Given the description of an element on the screen output the (x, y) to click on. 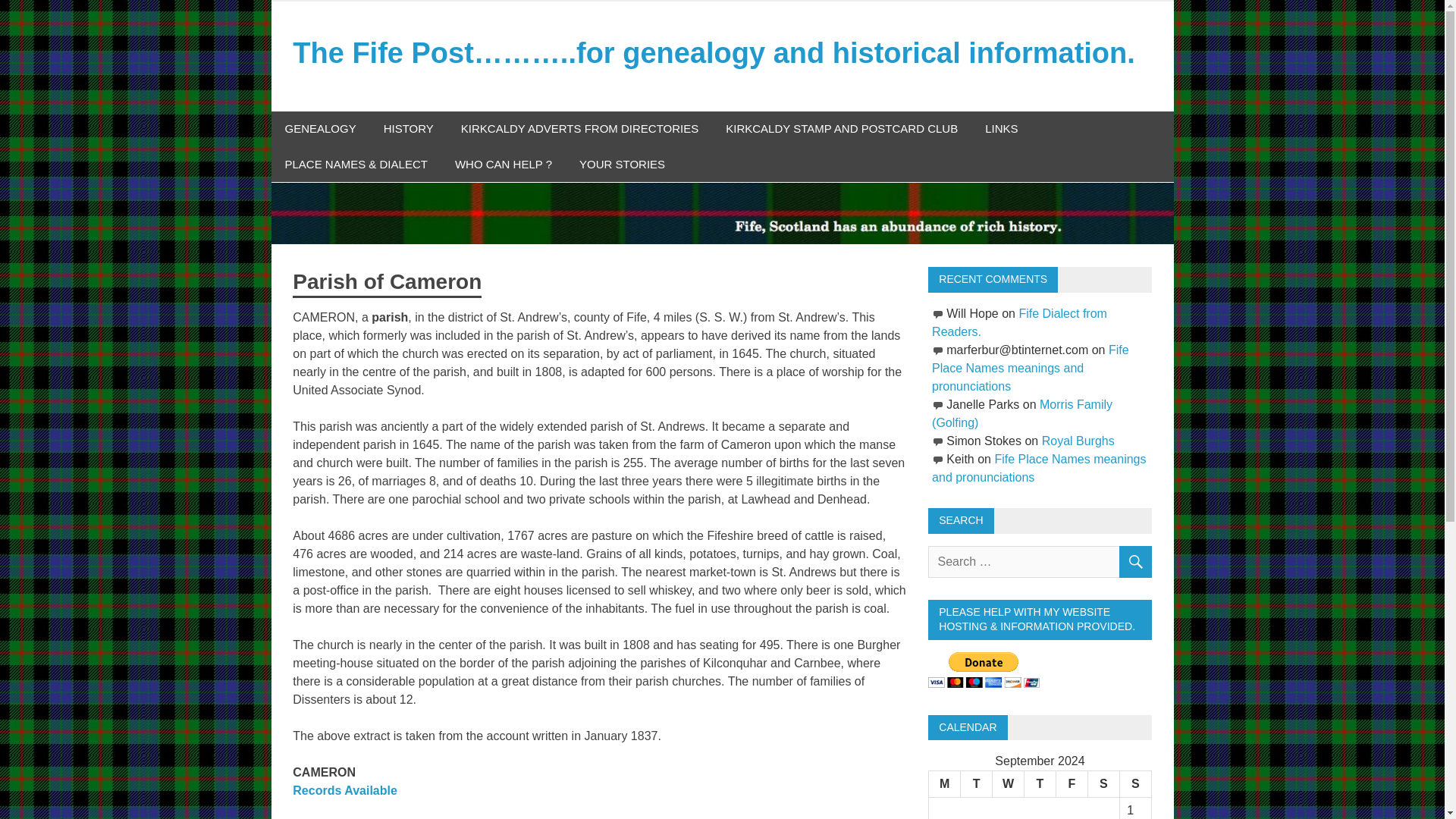
Friday (1071, 784)
Sunday (1135, 784)
Monday (944, 784)
Saturday (1103, 784)
Tuesday (976, 784)
GENEALOGY (319, 129)
Thursday (1039, 784)
Wednesday (1008, 784)
